Given the description of an element on the screen output the (x, y) to click on. 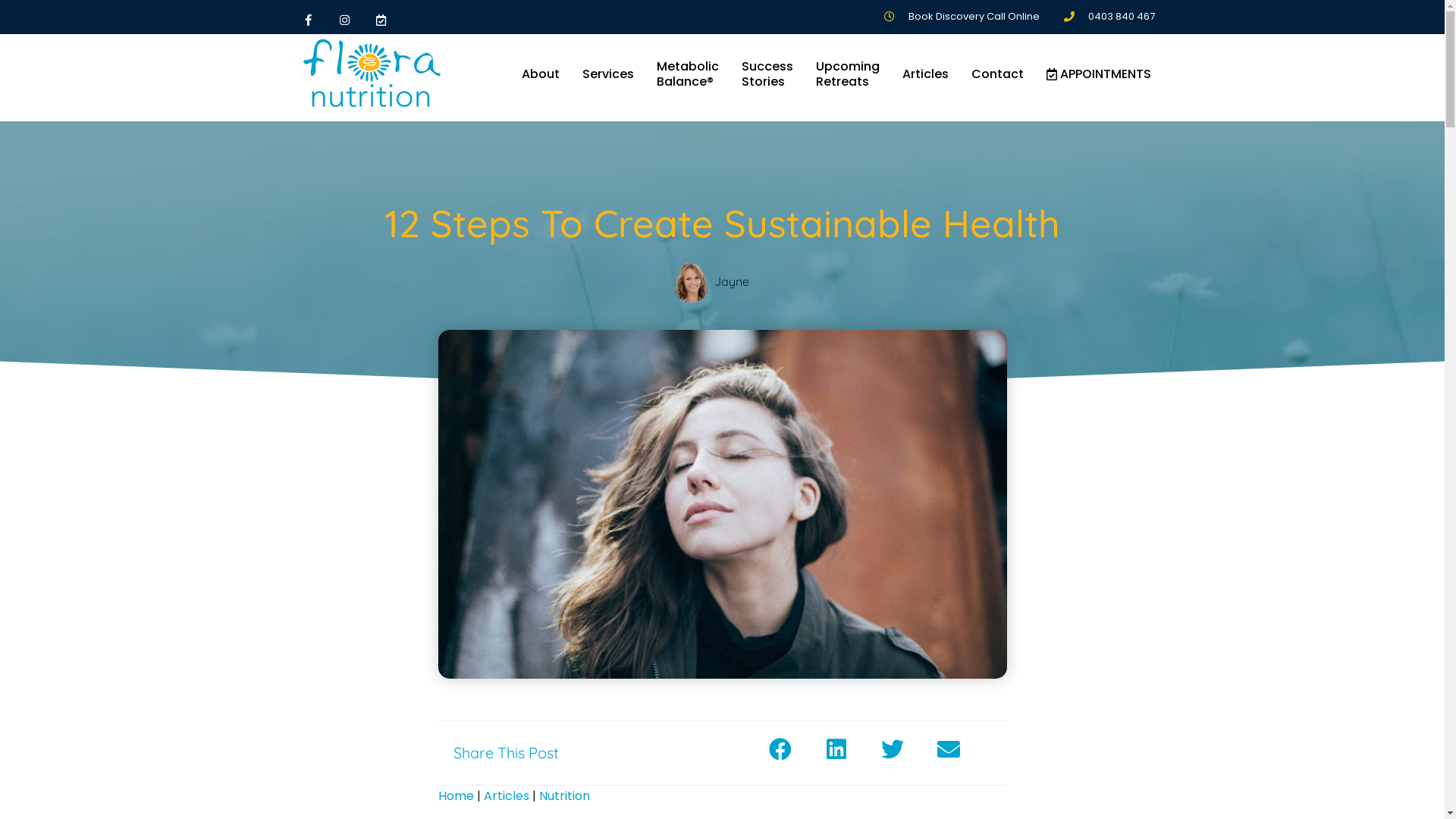
About Element type: text (539, 74)
Calendar-check Element type: text (380, 19)
Home Element type: text (455, 795)
Services Element type: text (607, 74)
Nutrition Element type: text (563, 795)
Articles Element type: text (506, 795)
 APPOINTMENTS Element type: text (1097, 74)
Book Discovery Call Online Element type: text (960, 17)
0403 840 467 Element type: text (1107, 17)
Facebook-f Element type: text (307, 19)
Articles Element type: text (924, 74)
Instagram Element type: text (344, 19)
Contact Element type: text (997, 74)
Success
Stories Element type: text (766, 74)
Upcoming
Retreats Element type: text (846, 74)
